Given the description of an element on the screen output the (x, y) to click on. 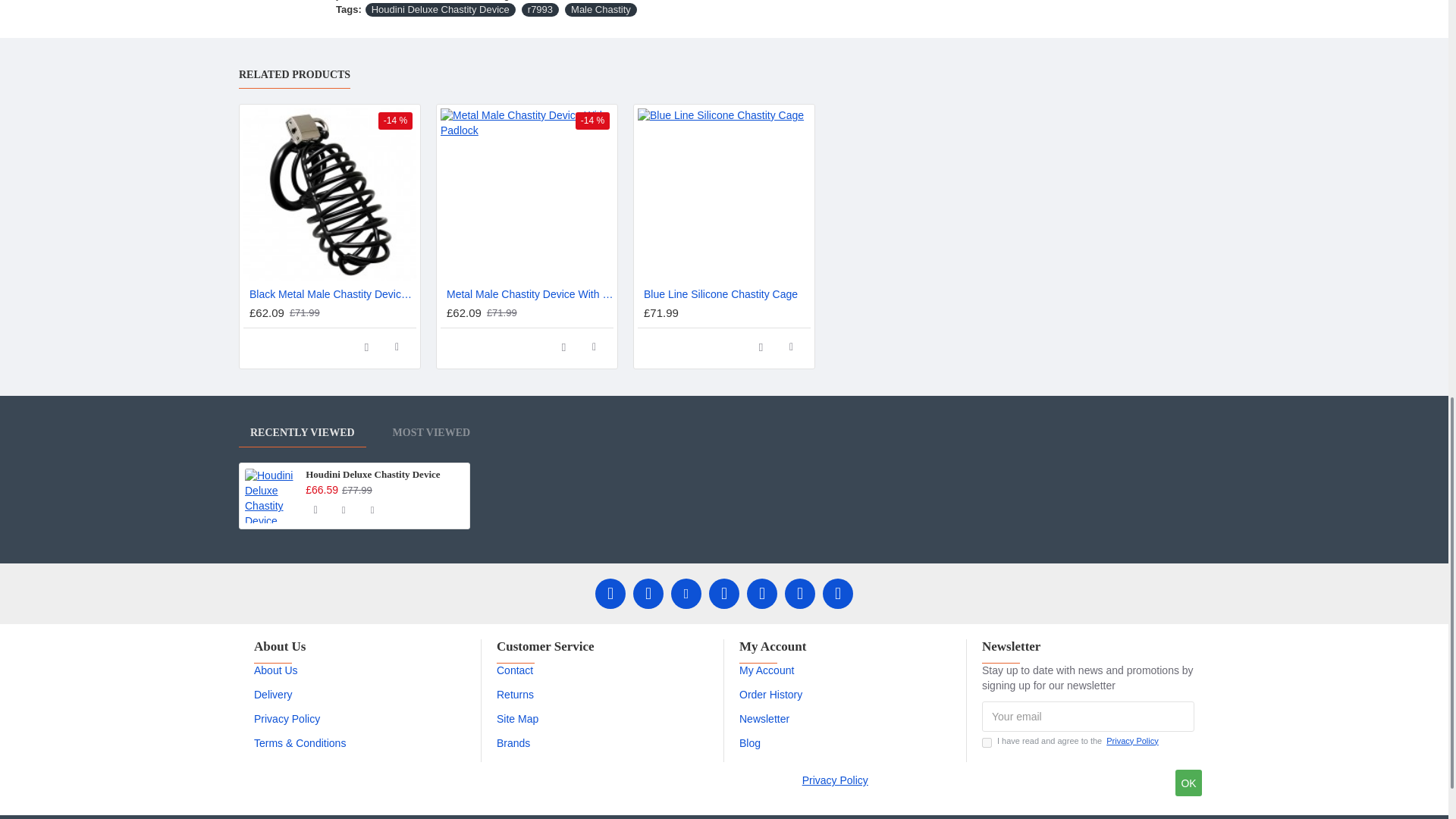
Add to Wish List (761, 347)
1 (986, 742)
Add to Wish List (563, 347)
Compare this Product (593, 347)
Add to Wish List (366, 347)
Black Metal Male Chastity Device With Padlock (329, 194)
Metal Male Chastity Device With Padlock (526, 194)
Blue Line Silicone Chastity Cage (723, 194)
Compare this Product (791, 347)
Houdini Deluxe Chastity Device (271, 495)
